Given the description of an element on the screen output the (x, y) to click on. 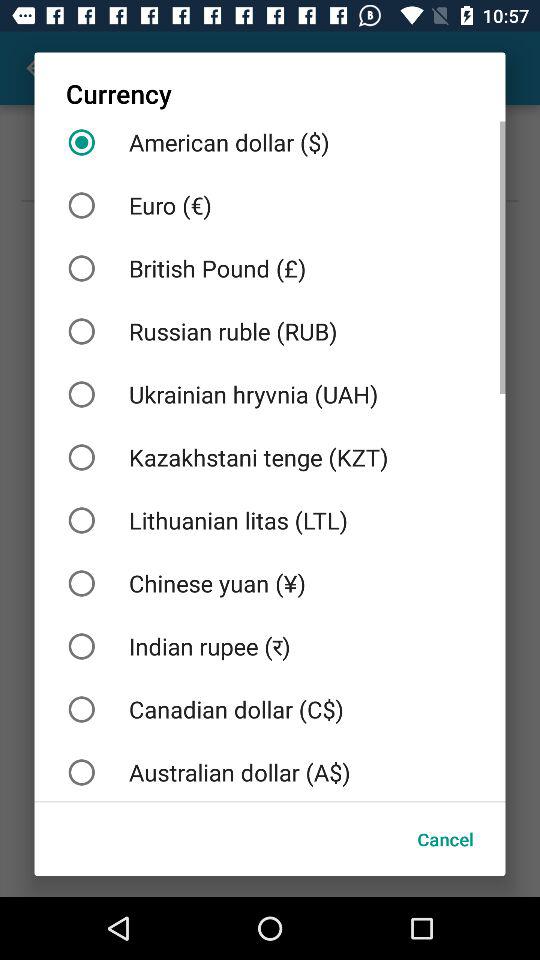
swipe until cancel icon (445, 838)
